Given the description of an element on the screen output the (x, y) to click on. 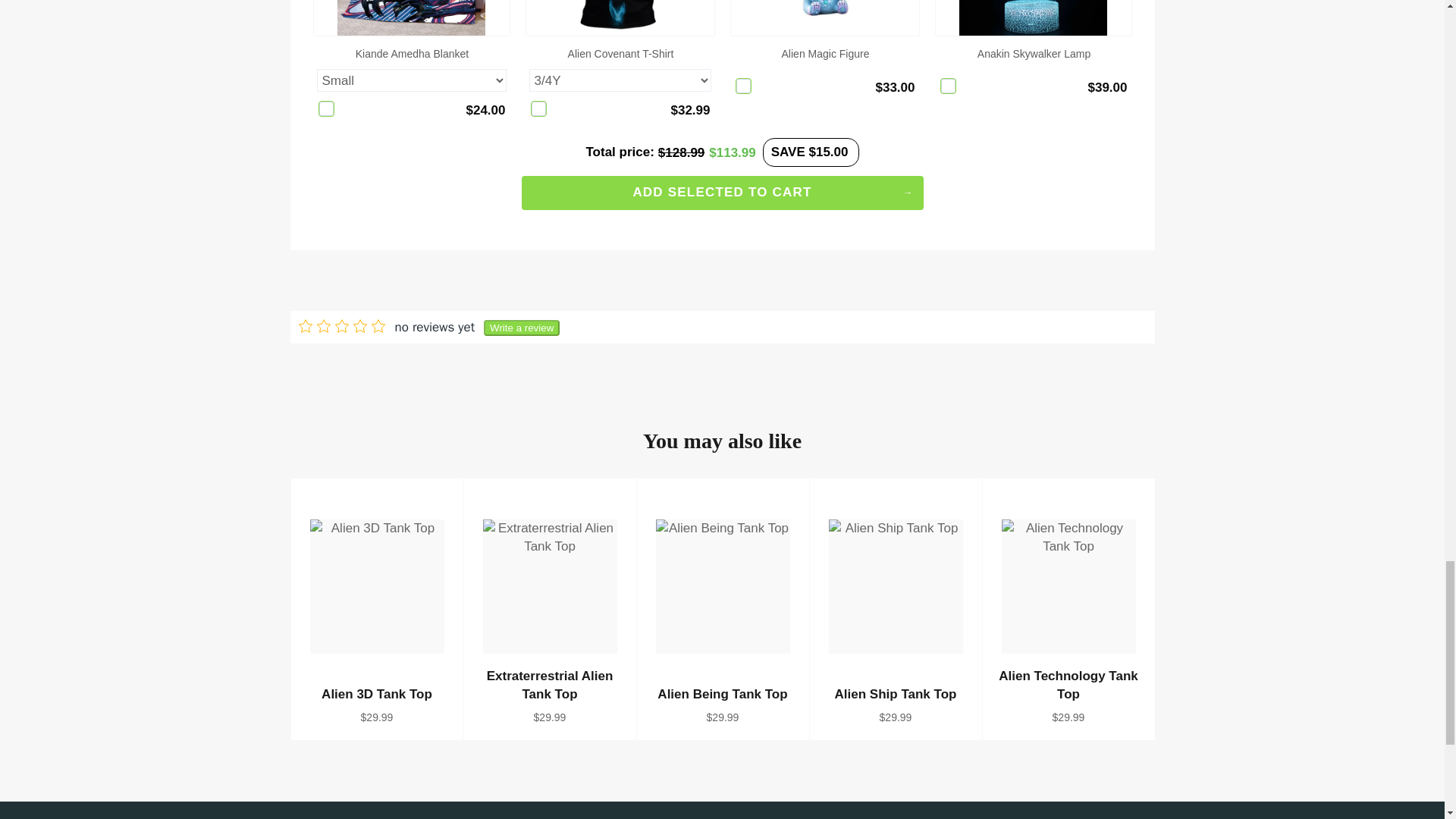
on (539, 108)
on (743, 85)
on (326, 108)
on (948, 85)
